Given the description of an element on the screen output the (x, y) to click on. 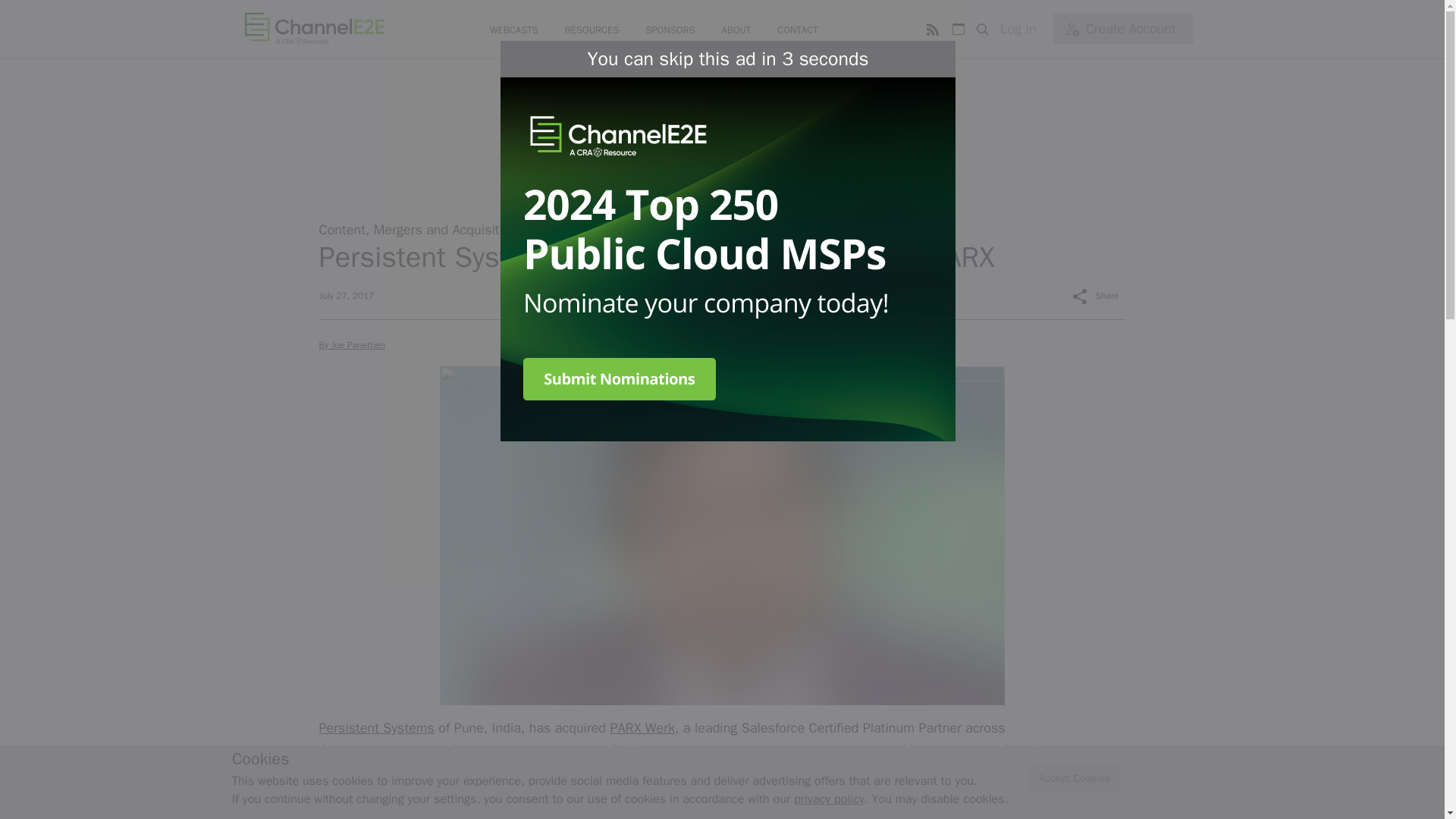
WEBCASTS (513, 30)
SPONSORS (669, 30)
View Cybersecurity Conference Calendar (957, 28)
privacy policy (828, 798)
By Joe Panettieri (351, 345)
ABOUT (736, 30)
RESOURCES (592, 30)
Create Account (1122, 29)
Content (341, 229)
Accept Cookies (1075, 778)
